Given the description of an element on the screen output the (x, y) to click on. 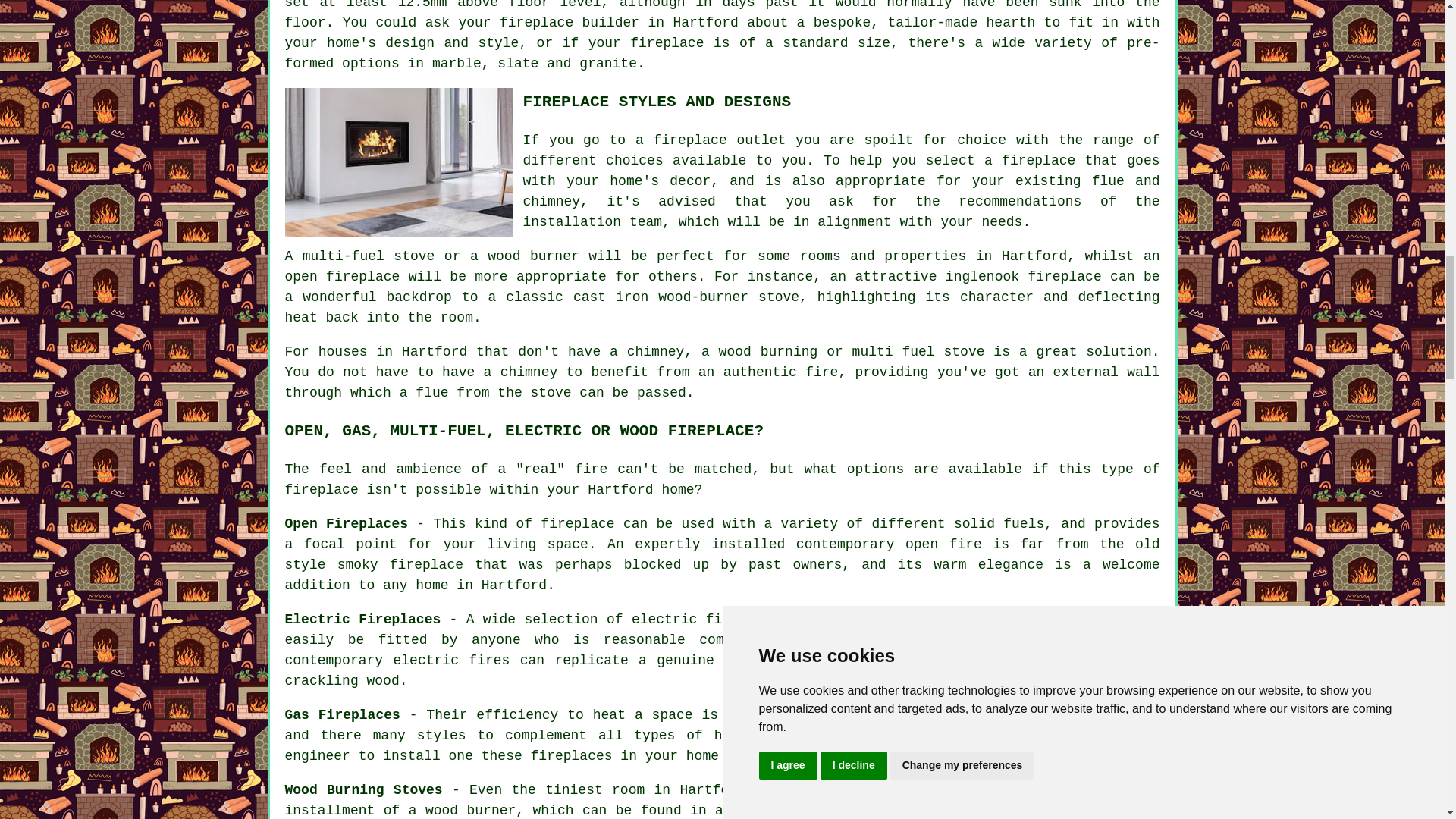
fireplace builder (569, 22)
fireplace (321, 489)
fireplace (1038, 160)
electric fires (452, 660)
Fireplace Fitters Hartford (1046, 799)
inglenook fireplace (1023, 276)
